Given the description of an element on the screen output the (x, y) to click on. 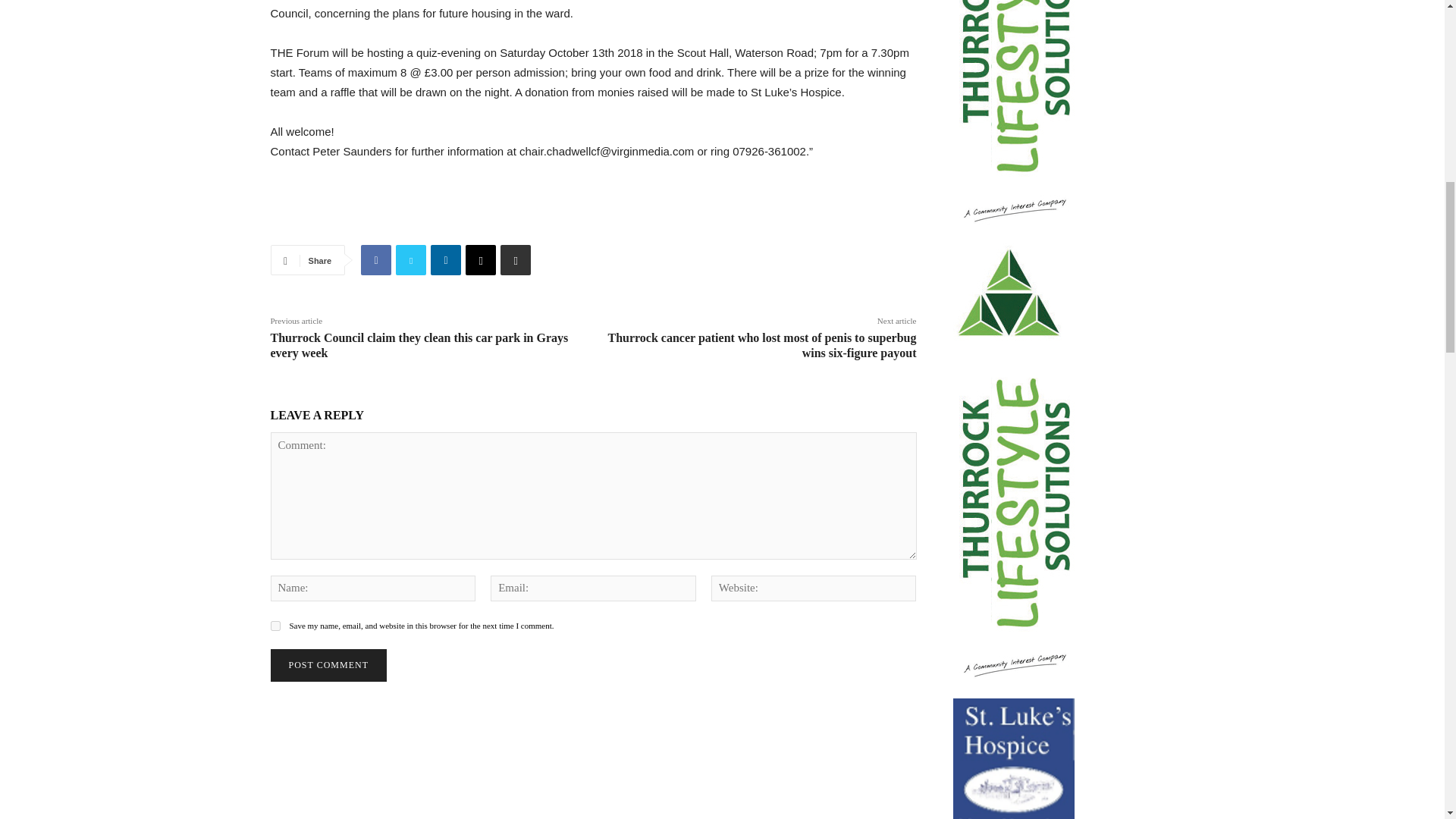
Twitter (411, 259)
Facebook (376, 259)
yes (274, 625)
Email (480, 259)
Print (515, 259)
Post Comment (327, 665)
Linkedin (445, 259)
